Given the description of an element on the screen output the (x, y) to click on. 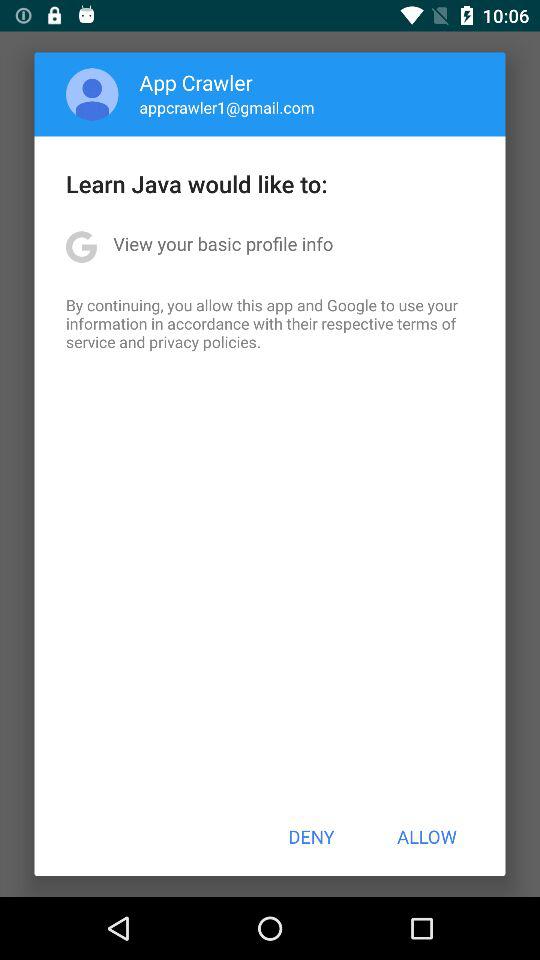
turn off icon next to the app crawler app (92, 94)
